Given the description of an element on the screen output the (x, y) to click on. 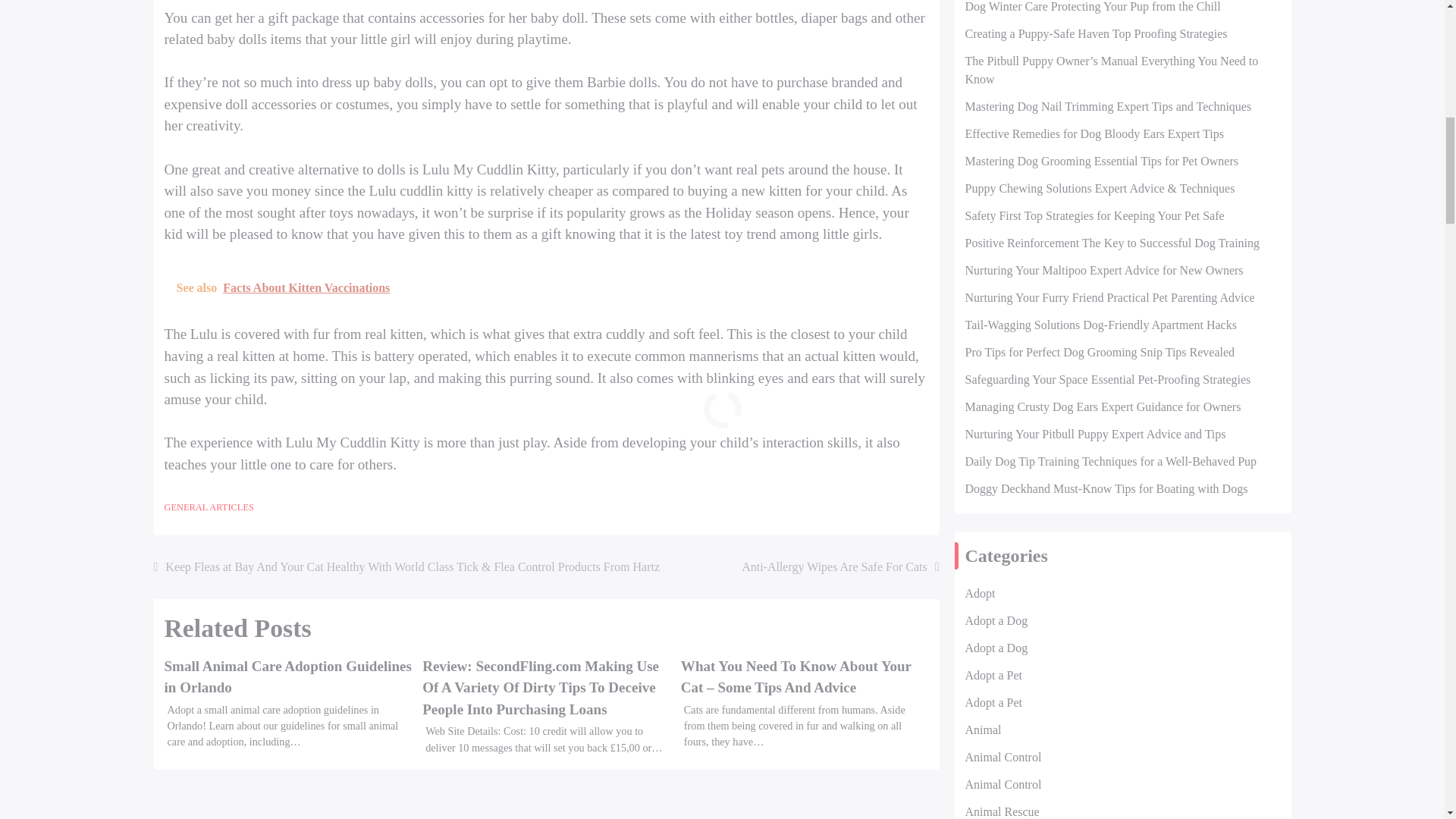
Anti-Allergy Wipes Are Safe For Cats (840, 566)
See also  Facts About Kitten Vaccinations (545, 287)
Small Animal Care Adoption Guidelines in Orlando (286, 677)
GENERAL ARTICLES (208, 507)
